Given the description of an element on the screen output the (x, y) to click on. 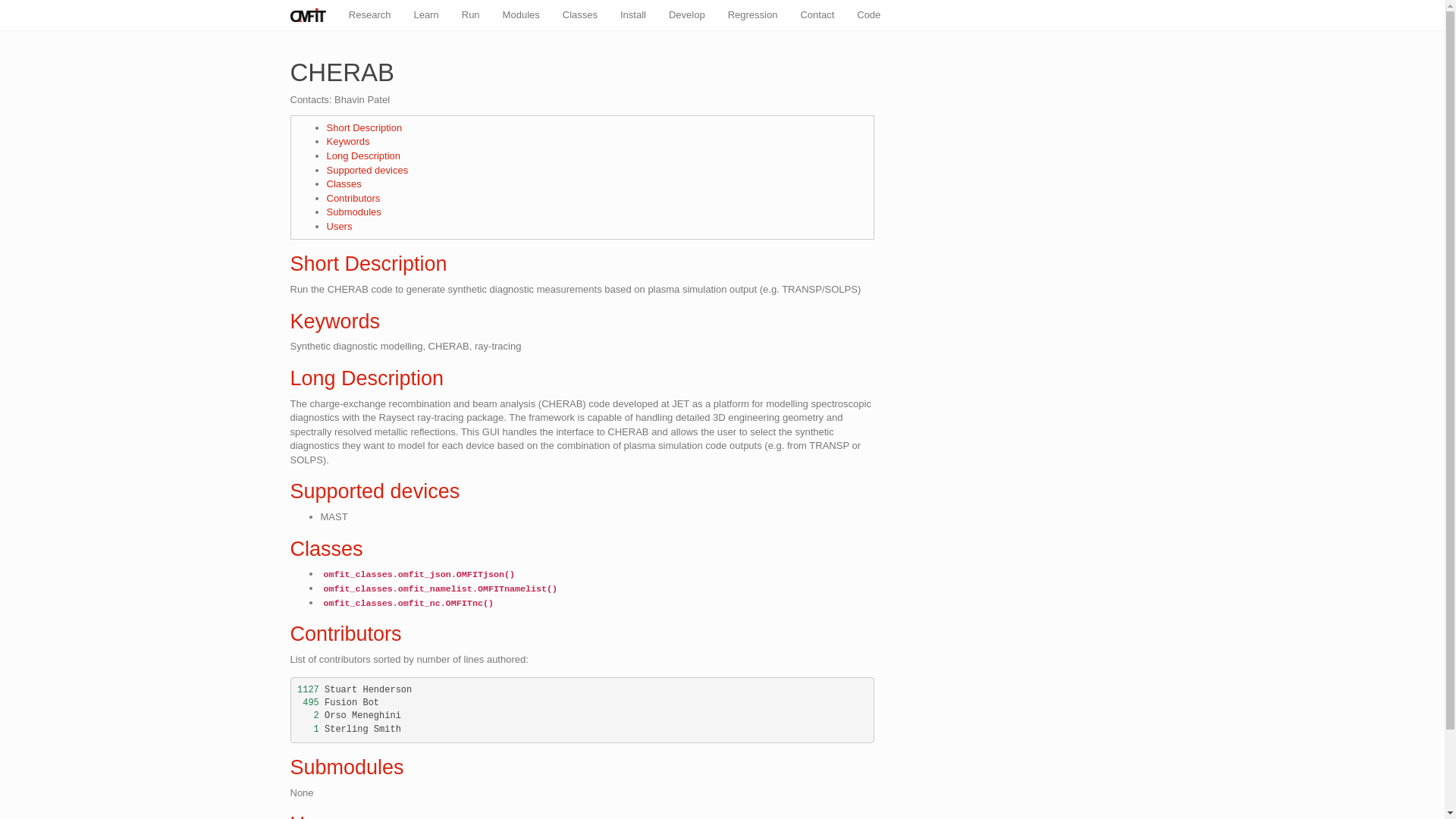
Research (370, 15)
Develop (687, 15)
Contributors (345, 633)
Short Description (367, 263)
Contact (817, 15)
Keywords (334, 321)
Classes (579, 15)
Users (339, 225)
Long Description (363, 155)
Supported devices (366, 170)
